Given the description of an element on the screen output the (x, y) to click on. 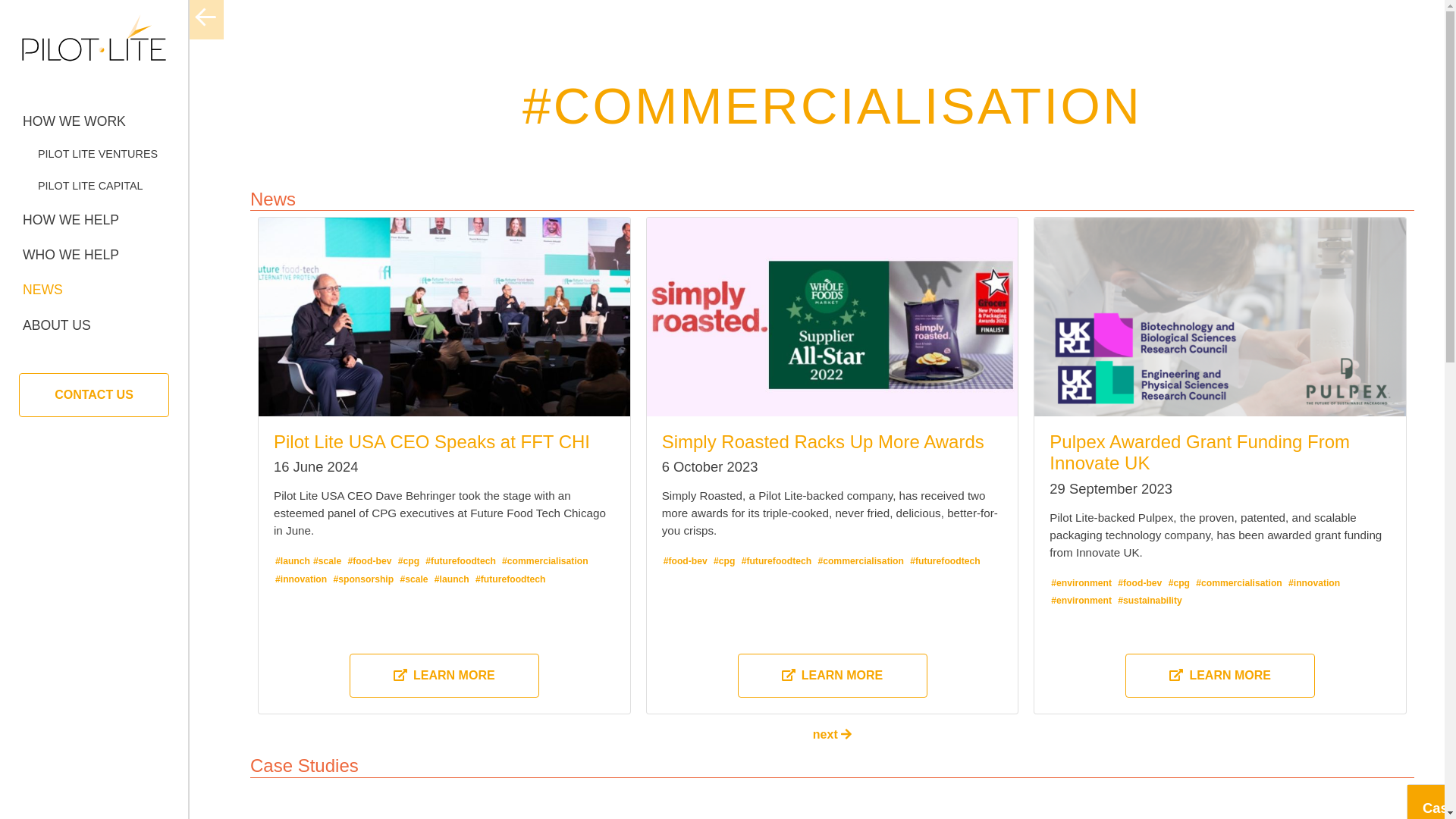
LEARN MORE (1219, 675)
futurefoodtech (944, 561)
food-bev (1139, 582)
sponsorship (362, 579)
LEARN MORE (443, 675)
scale (413, 579)
commercialisation (1238, 582)
innovation (301, 579)
next (831, 734)
PILOT LITE CAPITAL (93, 186)
